Given the description of an element on the screen output the (x, y) to click on. 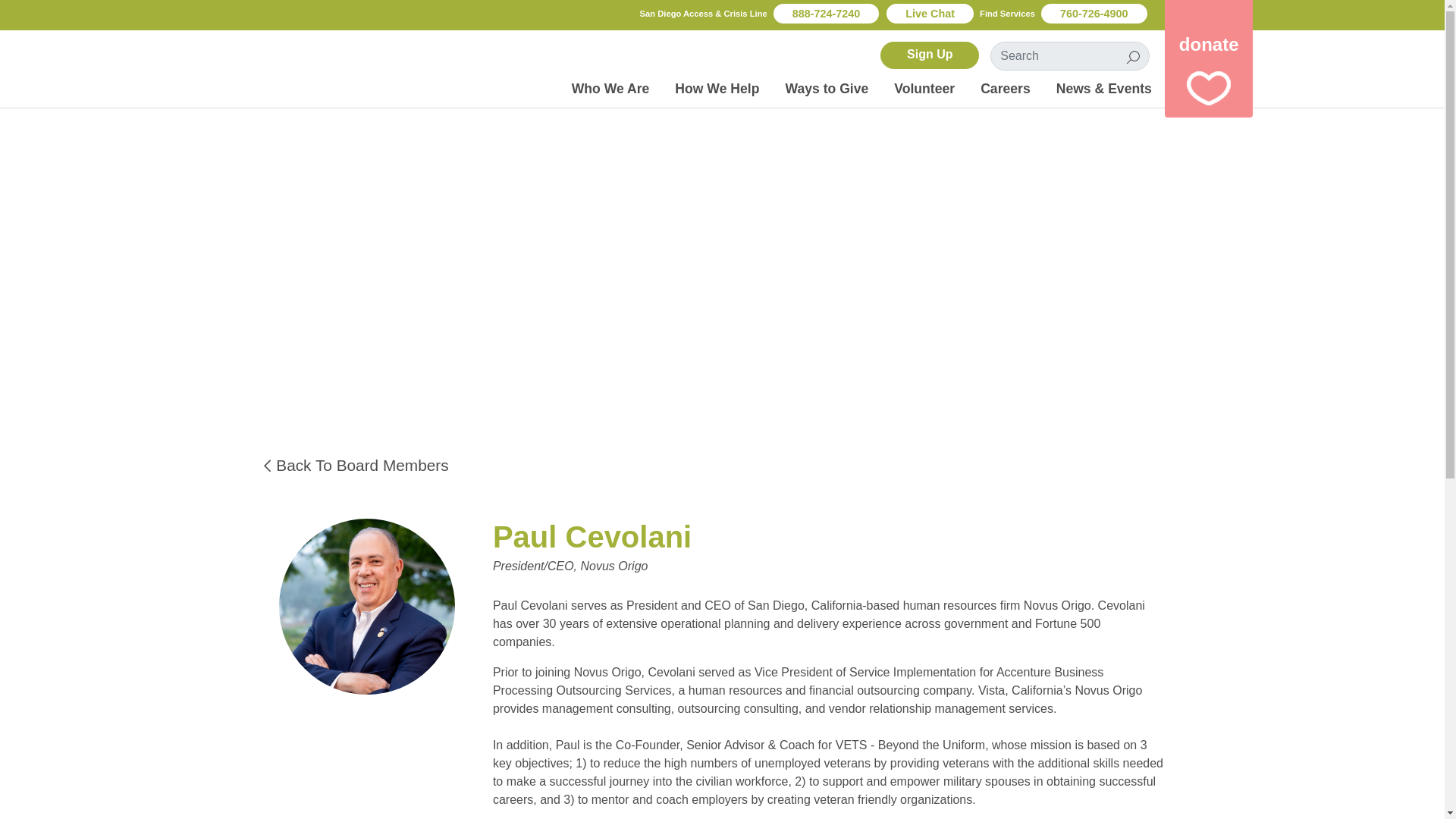
Volunteer (924, 88)
Search (1133, 55)
Who We Are (610, 88)
Ways to Give (825, 88)
Sign Up (929, 54)
Live Chat (930, 13)
888-724-7240 (825, 13)
North Country (266, 65)
760-726-4900 (1093, 13)
How We Help (716, 88)
